Given the description of an element on the screen output the (x, y) to click on. 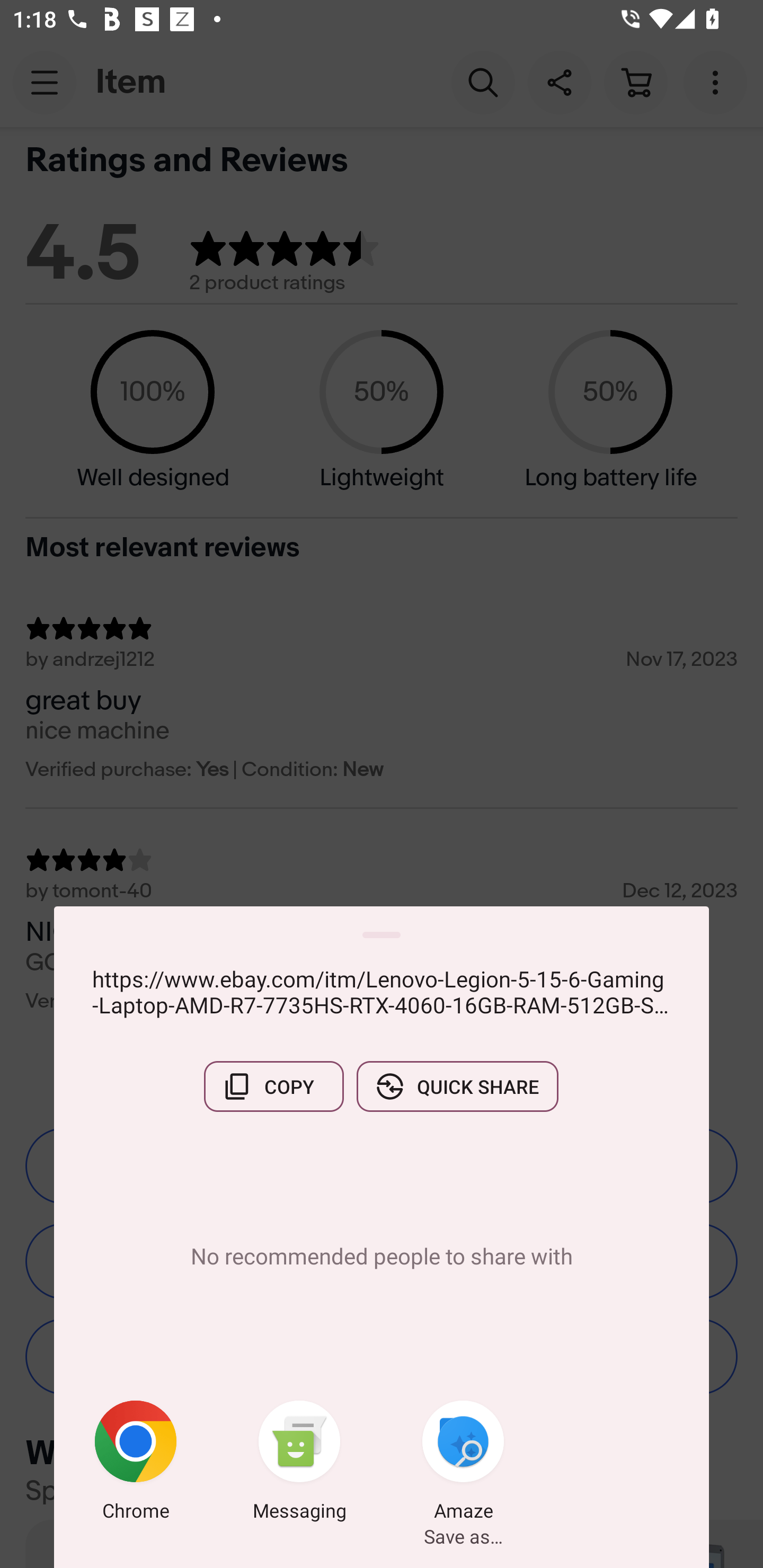
COPY (273, 1086)
QUICK SHARE (457, 1086)
Chrome (135, 1463)
Messaging (299, 1463)
Amaze Save as… (463, 1463)
